Given the description of an element on the screen output the (x, y) to click on. 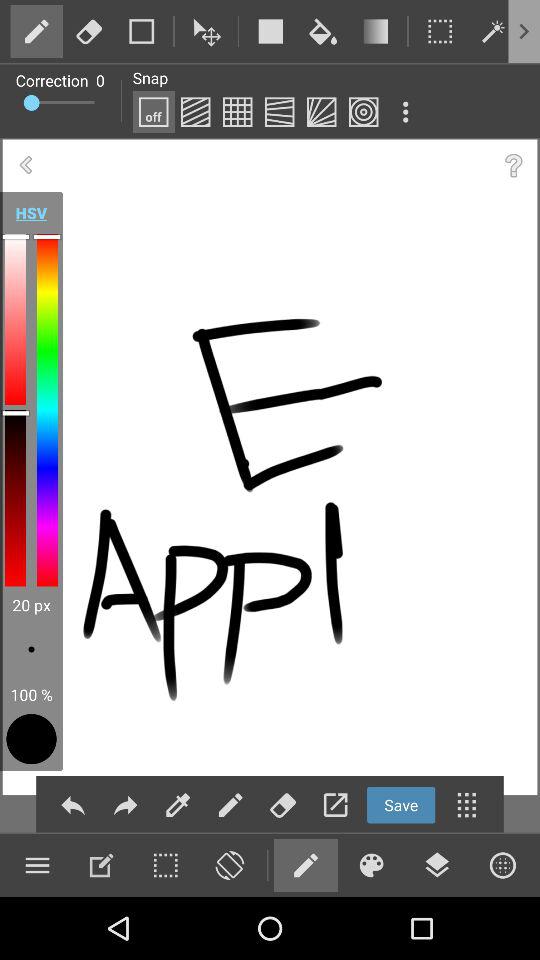
drawing (36, 31)
